Given the description of an element on the screen output the (x, y) to click on. 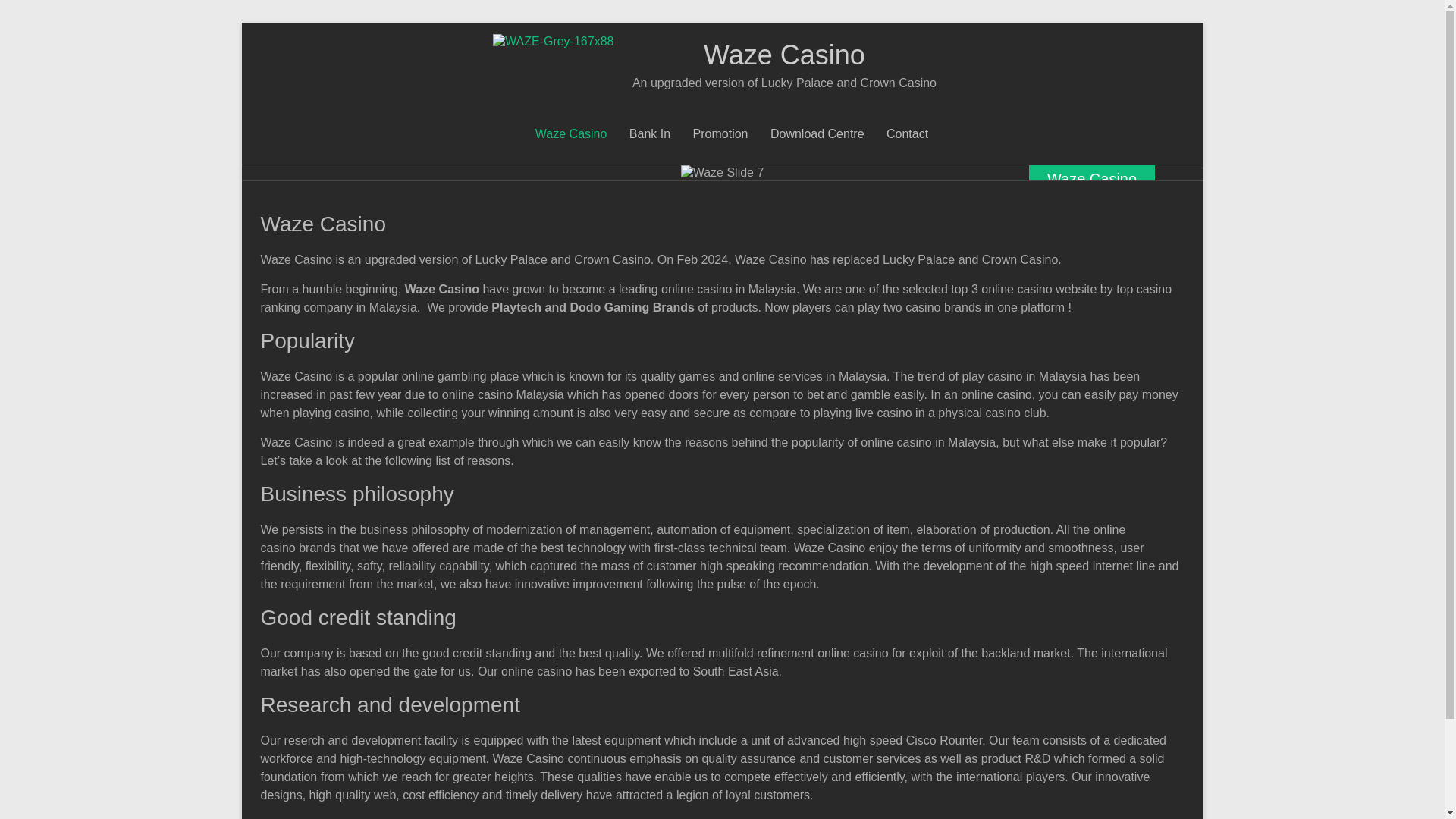
Waze Casino (783, 54)
Waze Casino (1091, 178)
Waze Casino (571, 133)
Waze Casino (783, 54)
Contact (907, 133)
Promotion (720, 133)
Bank In (648, 133)
Download Centre (817, 133)
